Given the description of an element on the screen output the (x, y) to click on. 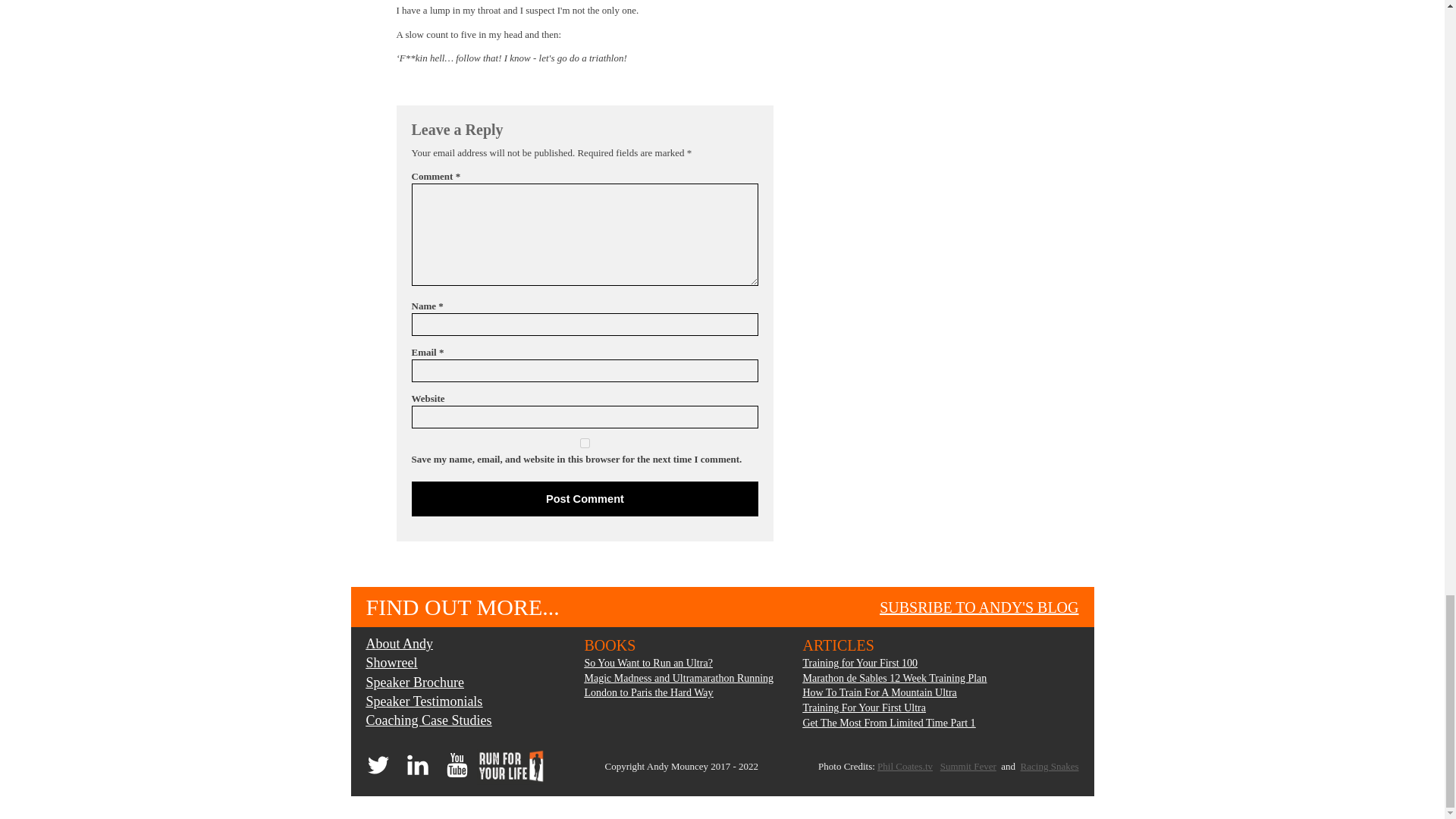
yes (584, 442)
Post Comment (584, 498)
Showreel (428, 662)
Coaching Case Studies (428, 720)
Summit Fever (967, 766)
SUBSRIBE TO ANDY'S BLOG (978, 607)
Post Comment (584, 498)
Magic Madness and Ultramarathon Running (678, 678)
London to Paris the Hard Way (678, 693)
Training For Your First Ultra (894, 708)
How To Train For A Mountain Ultra (894, 693)
Get The Most From Limited Time Part 1 (894, 723)
Marathon de Sables 12 Week Training Plan (894, 678)
Phil Coates.tv (905, 766)
So You Want to Run an Ultra? (678, 663)
